Given the description of an element on the screen output the (x, y) to click on. 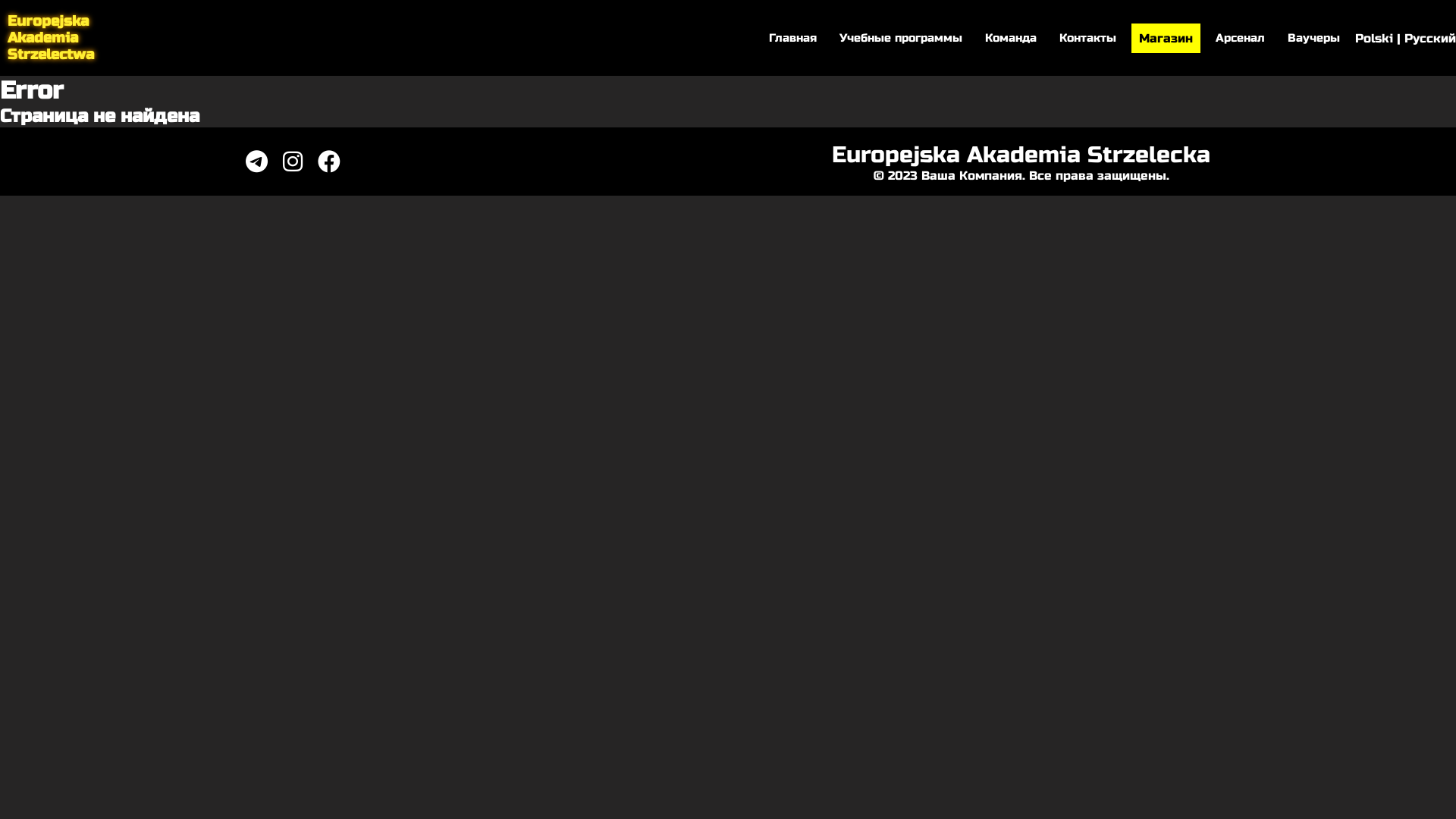
Polski Element type: text (1374, 37)
